Given the description of an element on the screen output the (x, y) to click on. 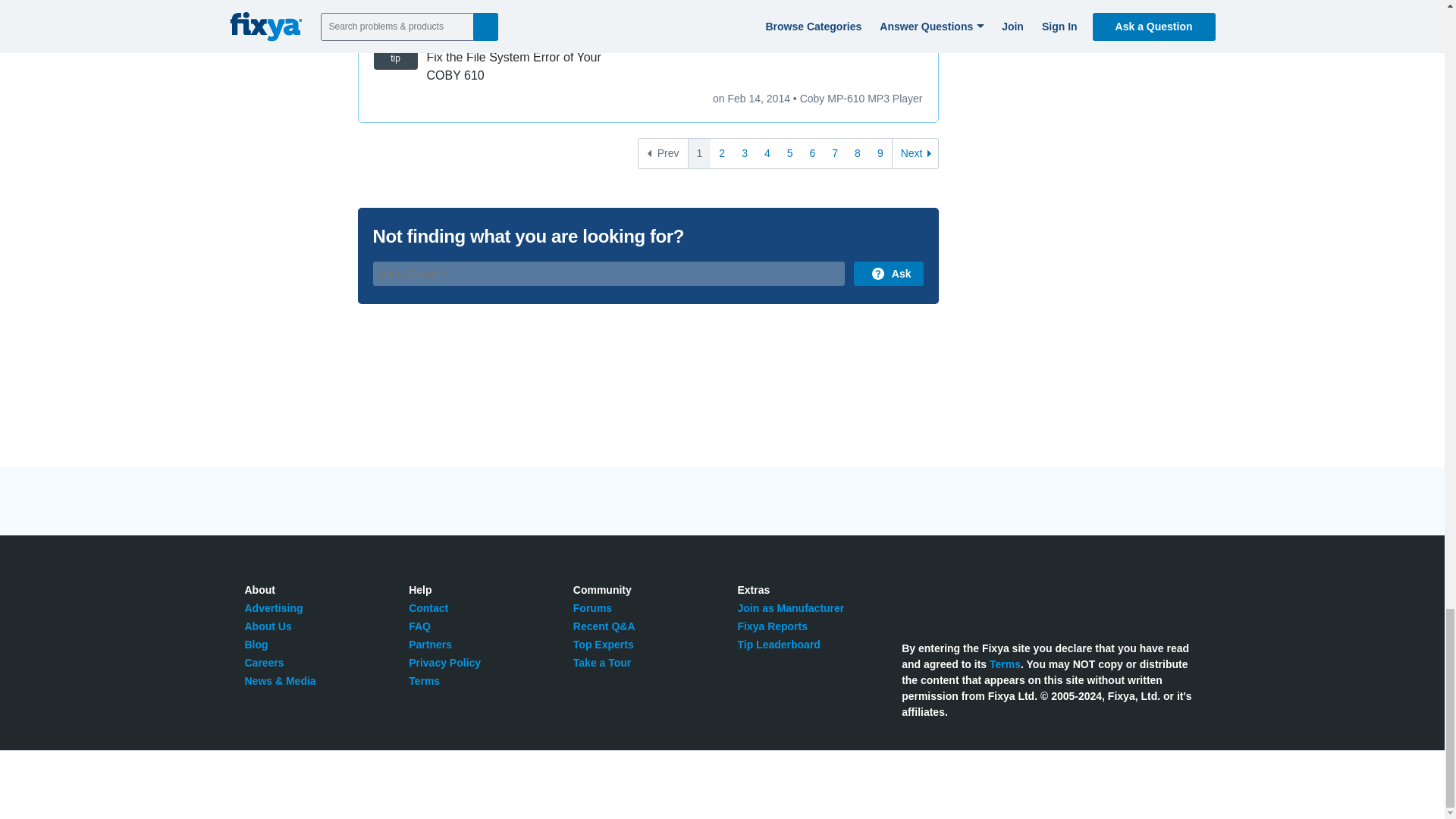
Ask (888, 273)
Join Fixya on Facebook (945, 597)
Connect with Fixya on LinkedIn (978, 597)
Follow Fixya on Twitter (910, 597)
